Given the description of an element on the screen output the (x, y) to click on. 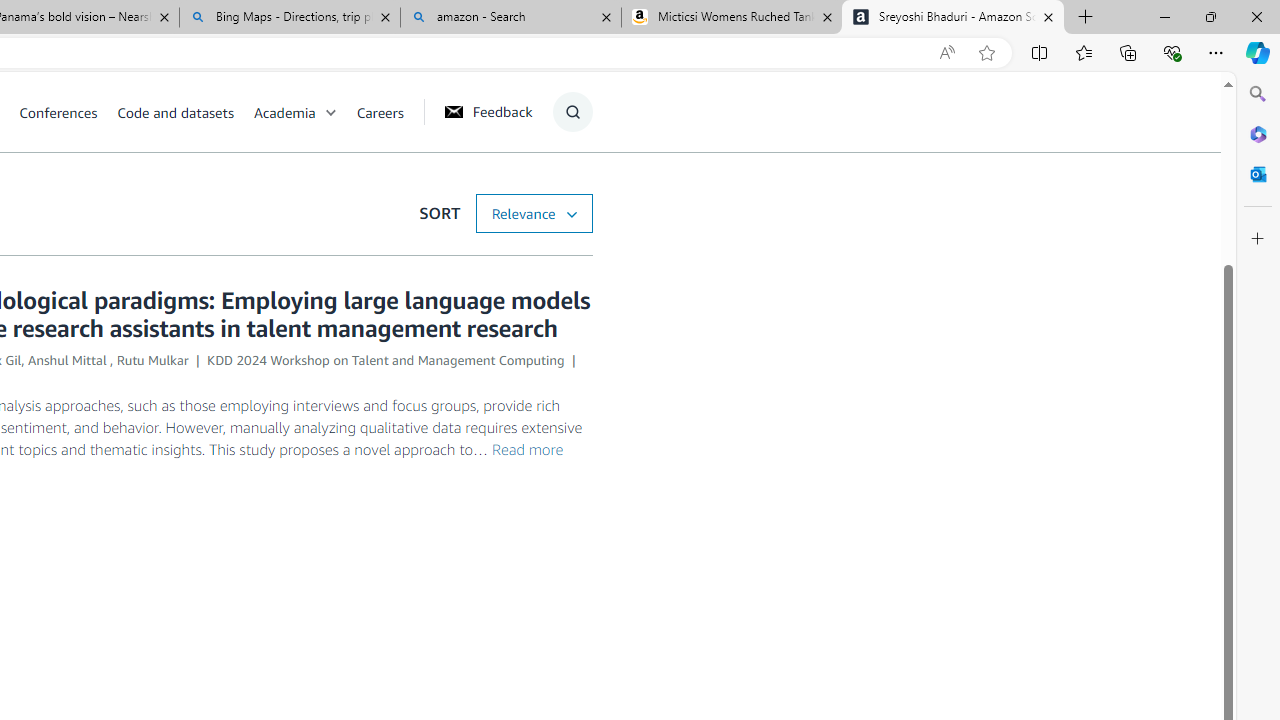
Microsoft 365 (1258, 133)
Close (1256, 16)
Settings and more (Alt+F) (1215, 52)
Academia (305, 111)
Collections (1128, 52)
SORT (533, 213)
Outlook (1258, 174)
Minimize (1164, 16)
Code and datasets (184, 111)
Open Sub Navigation (330, 111)
Favorites (1083, 52)
Read more (527, 449)
Careers (379, 111)
Careers (389, 111)
